Given the description of an element on the screen output the (x, y) to click on. 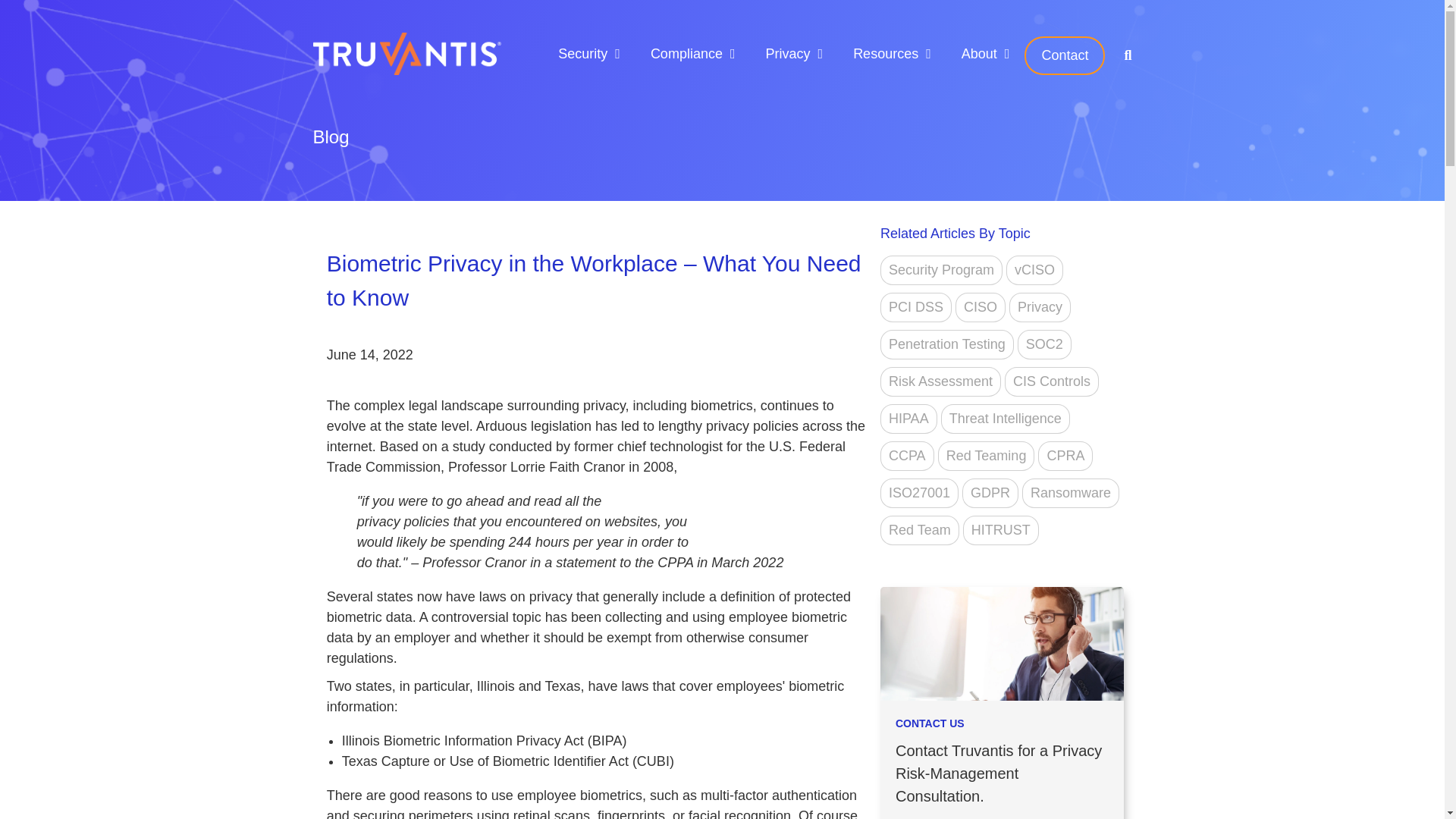
About (978, 54)
Resources (885, 54)
Compliance (686, 54)
Privacy (788, 54)
Security (583, 54)
